Given the description of an element on the screen output the (x, y) to click on. 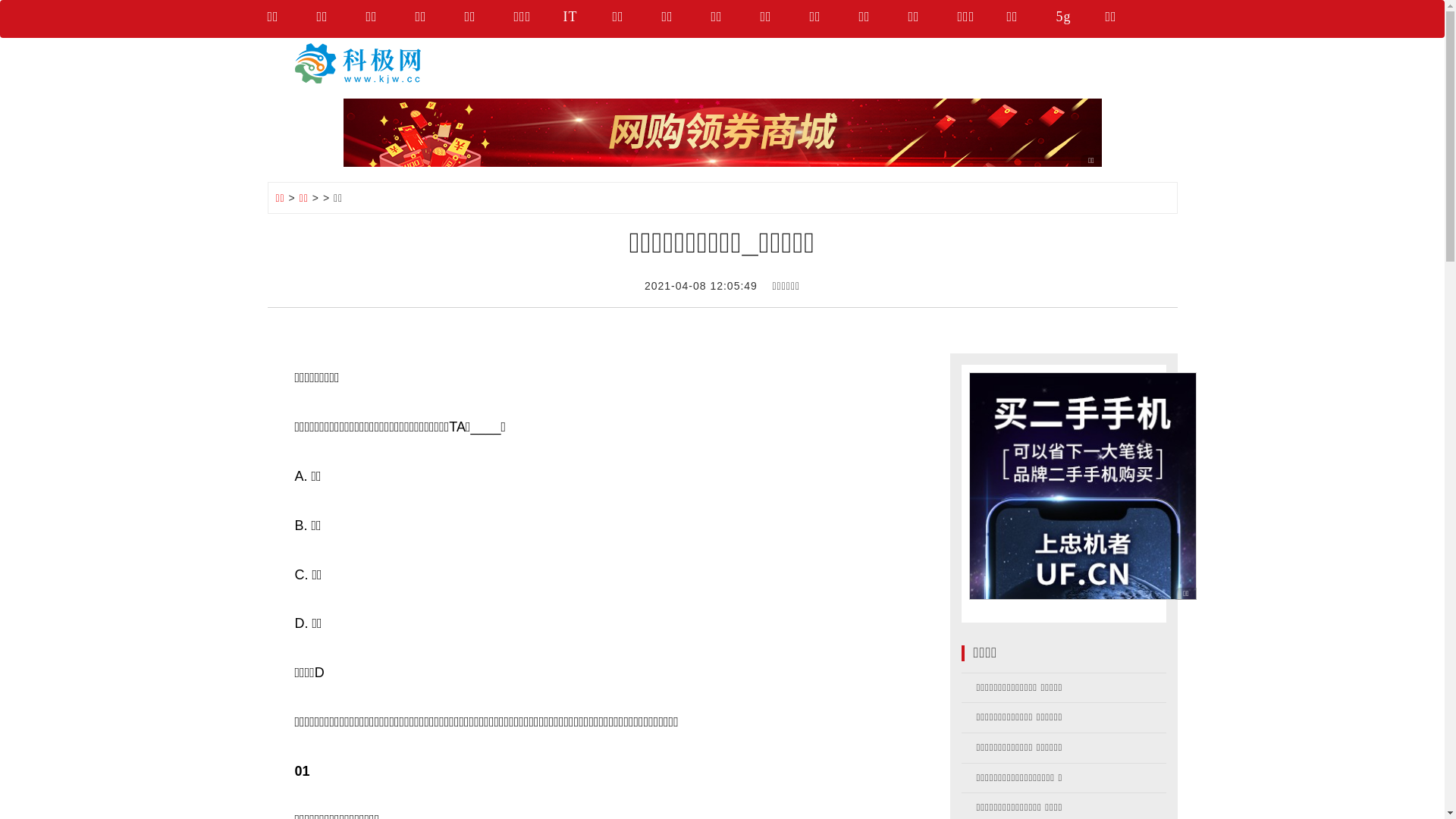
5g Element type: text (1079, 18)
IT Element type: text (586, 18)
